Given the description of an element on the screen output the (x, y) to click on. 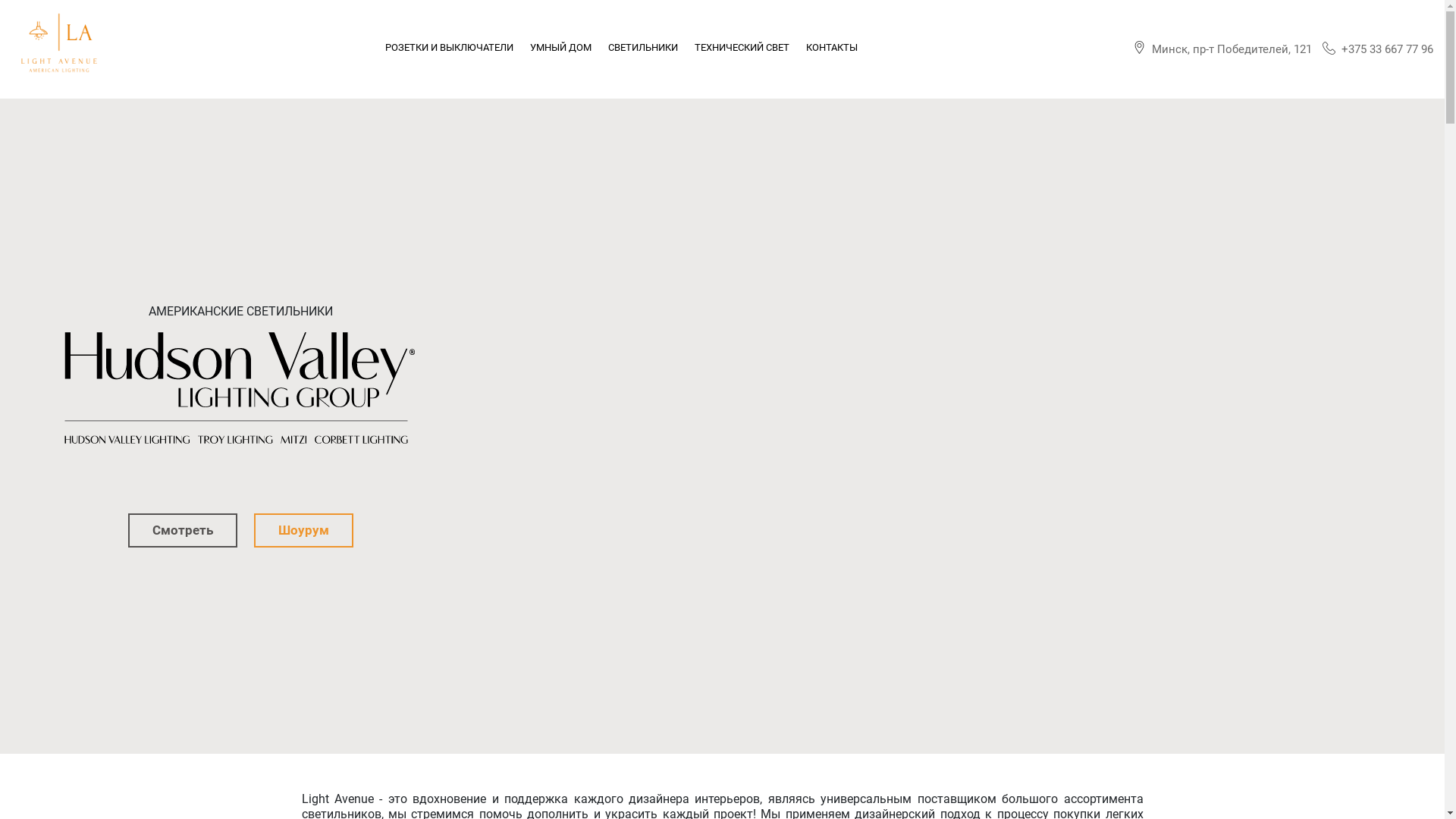
+375 33 667 77 96 Element type: text (1377, 48)
